Given the description of an element on the screen output the (x, y) to click on. 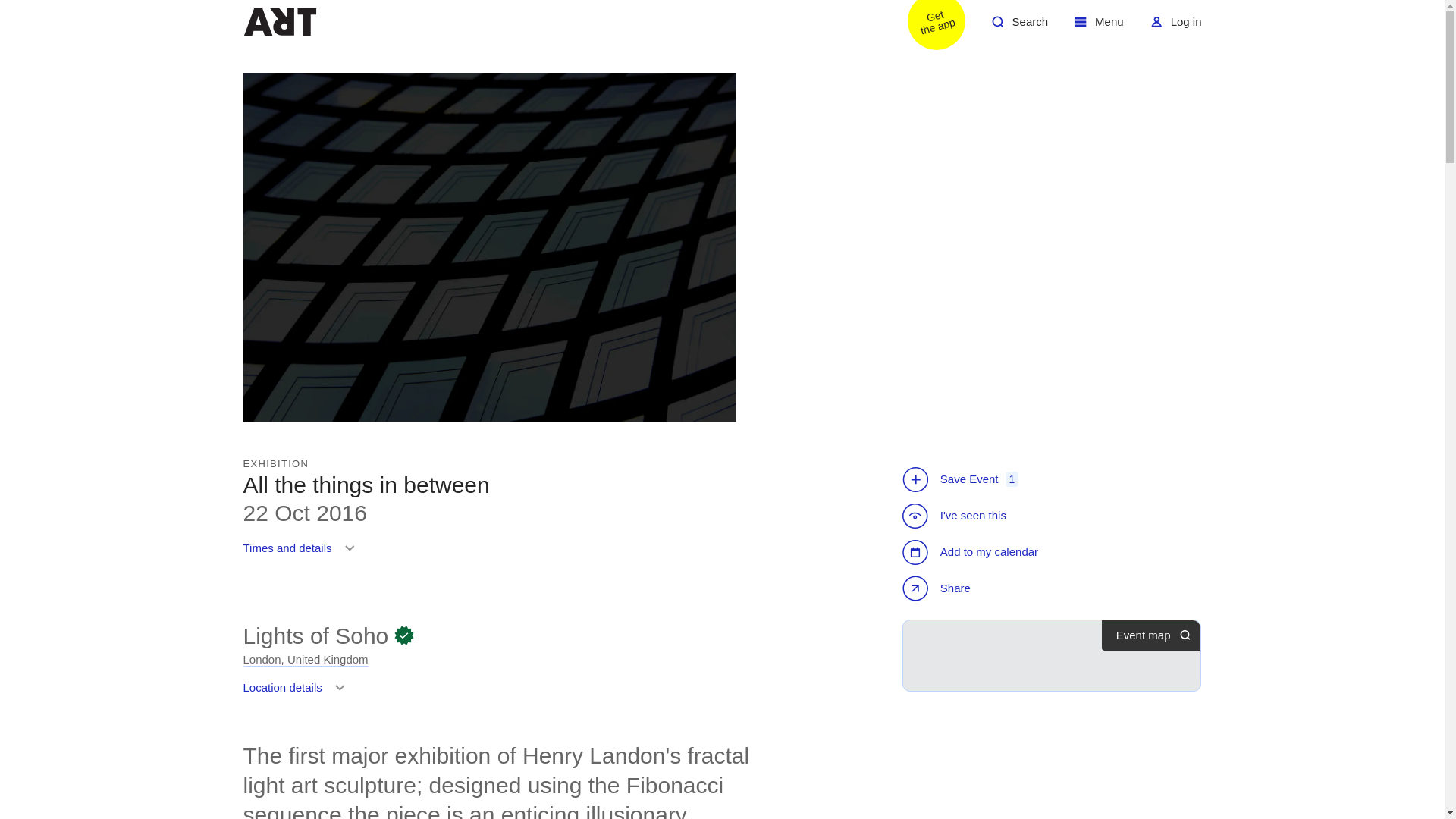
Welcome to ArtRabbit (279, 22)
Add to my calendar (972, 551)
Lights of Soho (302, 553)
Share (297, 692)
London, United Kingdom (1099, 26)
